Given the description of an element on the screen output the (x, y) to click on. 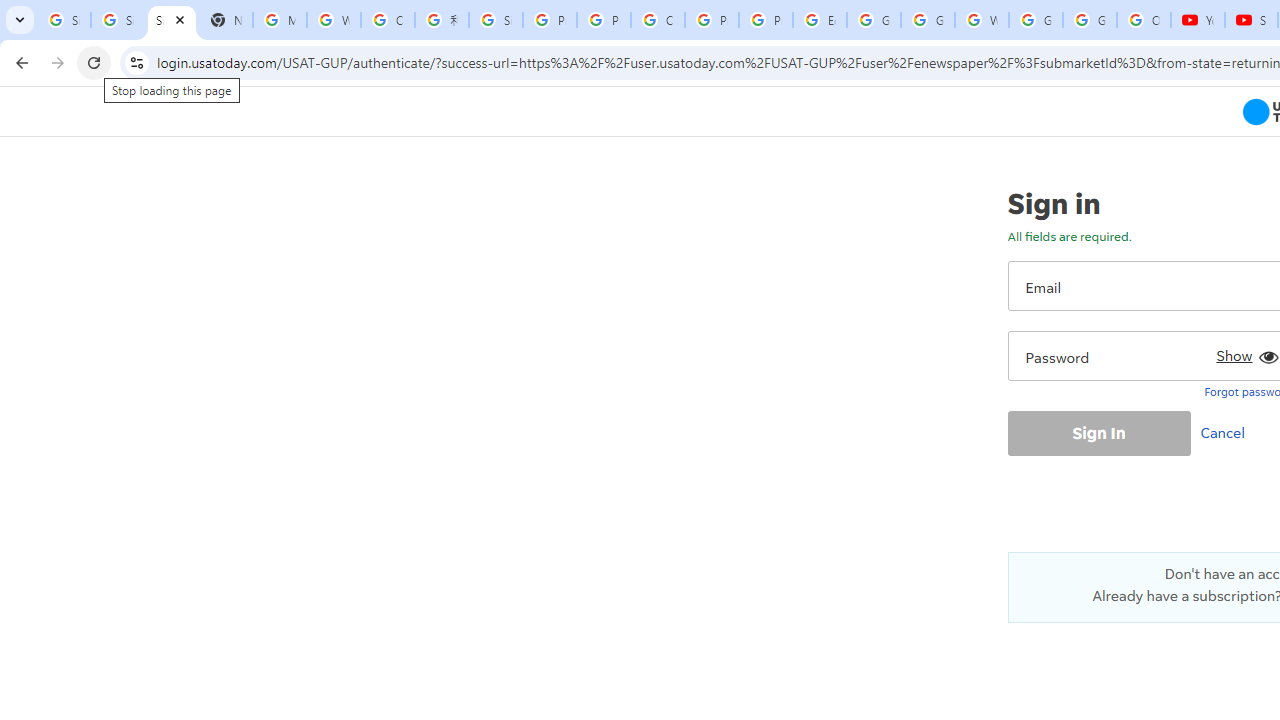
Who is my administrator? - Google Account Help (333, 20)
Create your Google Account (387, 20)
Google Slides: Sign-in (874, 20)
Show (1244, 351)
Sign In (1098, 432)
Edit and view right-to-left text - Google Docs Editors Help (819, 20)
Sign in - Google Accounts (117, 20)
Sign In - USA TODAY (171, 20)
